Given the description of an element on the screen output the (x, y) to click on. 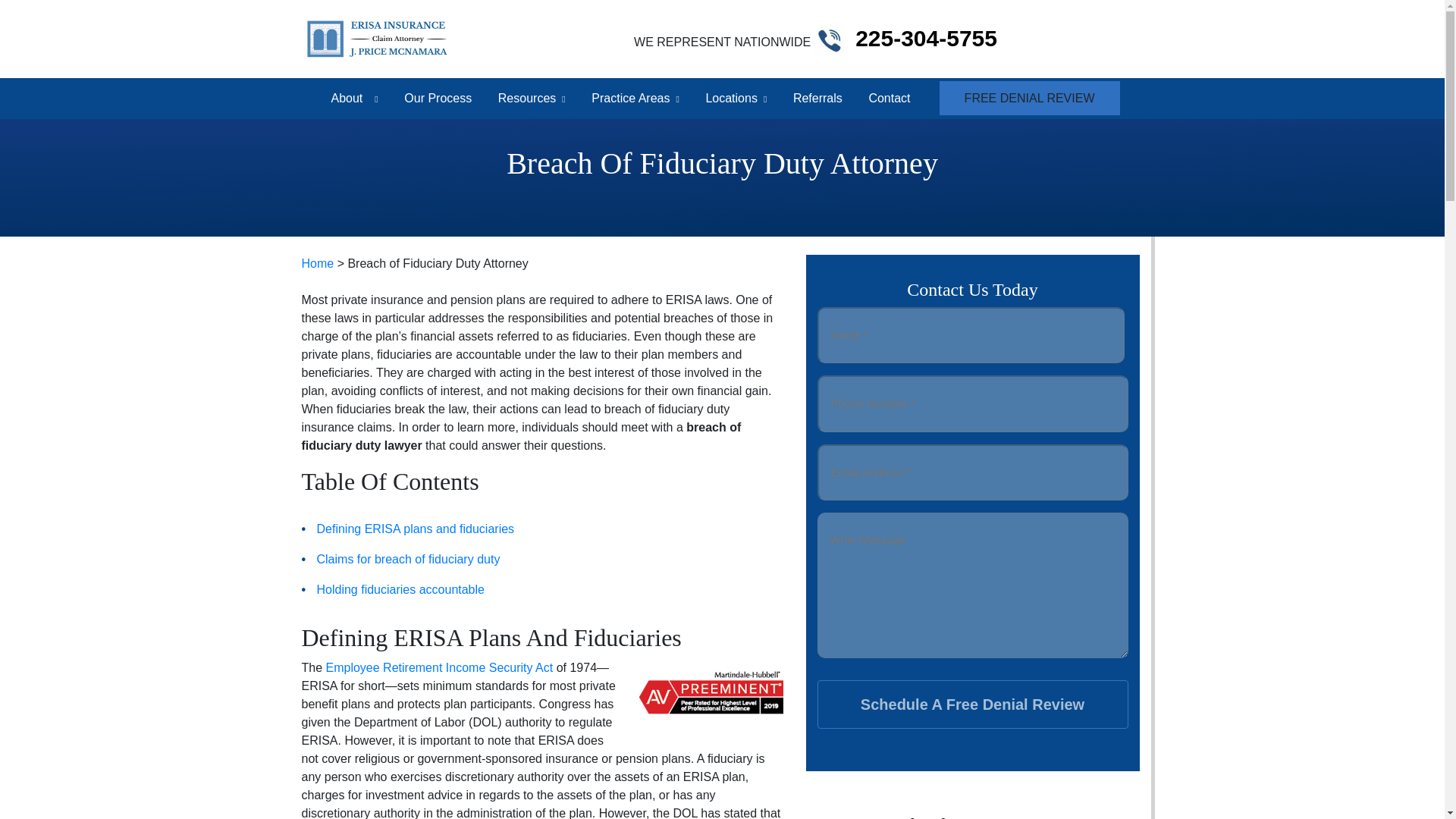
Home (317, 263)
Our Process (437, 97)
Claims for breach of fiduciary duty (408, 558)
Our Process (437, 97)
Contact (888, 97)
FREE DENIAL REVIEW (1029, 98)
Defining ERISA plans and fiduciaries (416, 528)
Locations (727, 97)
Resources (524, 97)
225-304-5755 (926, 37)
